Given the description of an element on the screen output the (x, y) to click on. 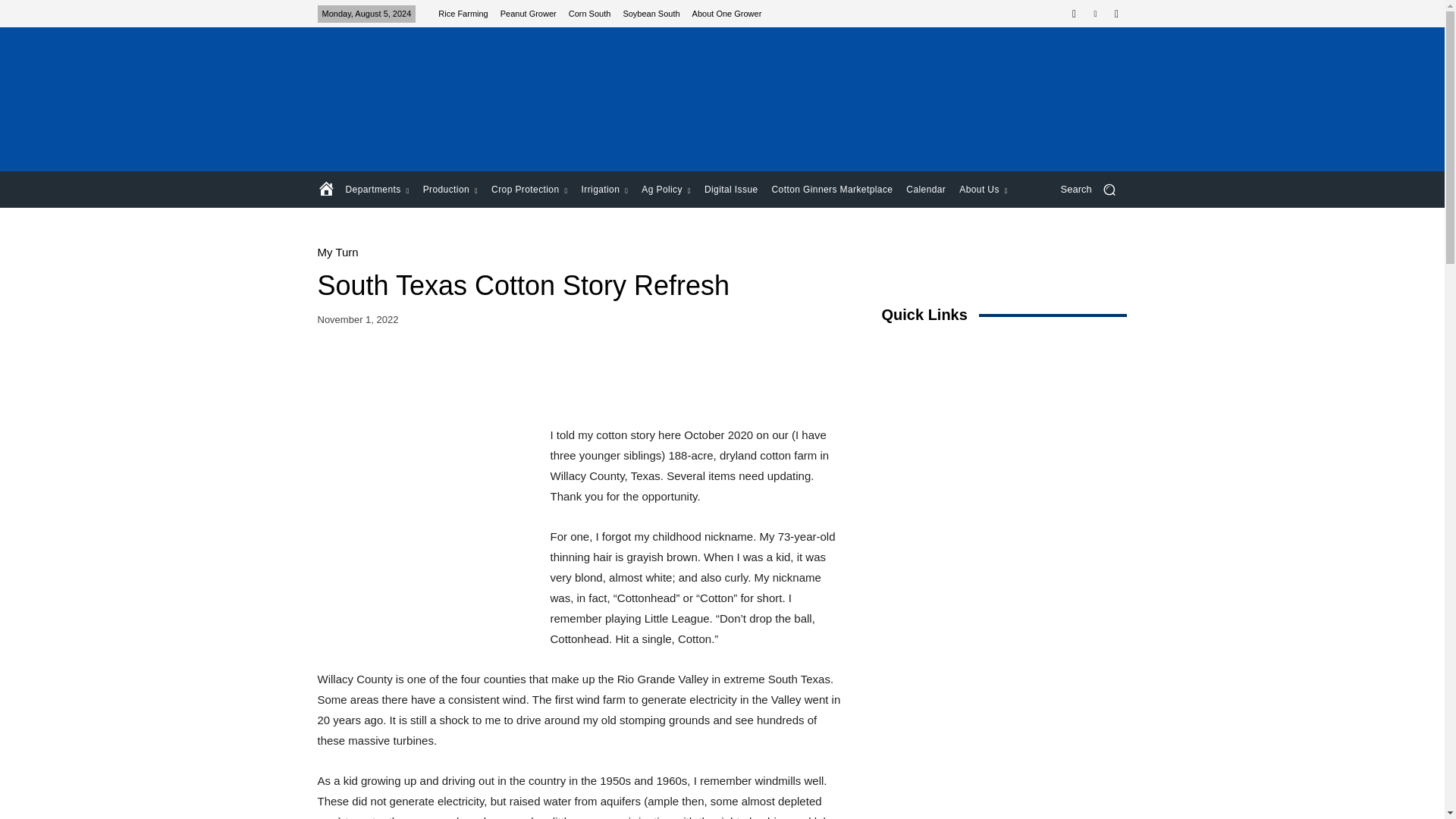
Cotton Farming Header Logo (425, 99)
Rss (1115, 13)
Facebook (1073, 13)
Twitter (1094, 13)
